Given the description of an element on the screen output the (x, y) to click on. 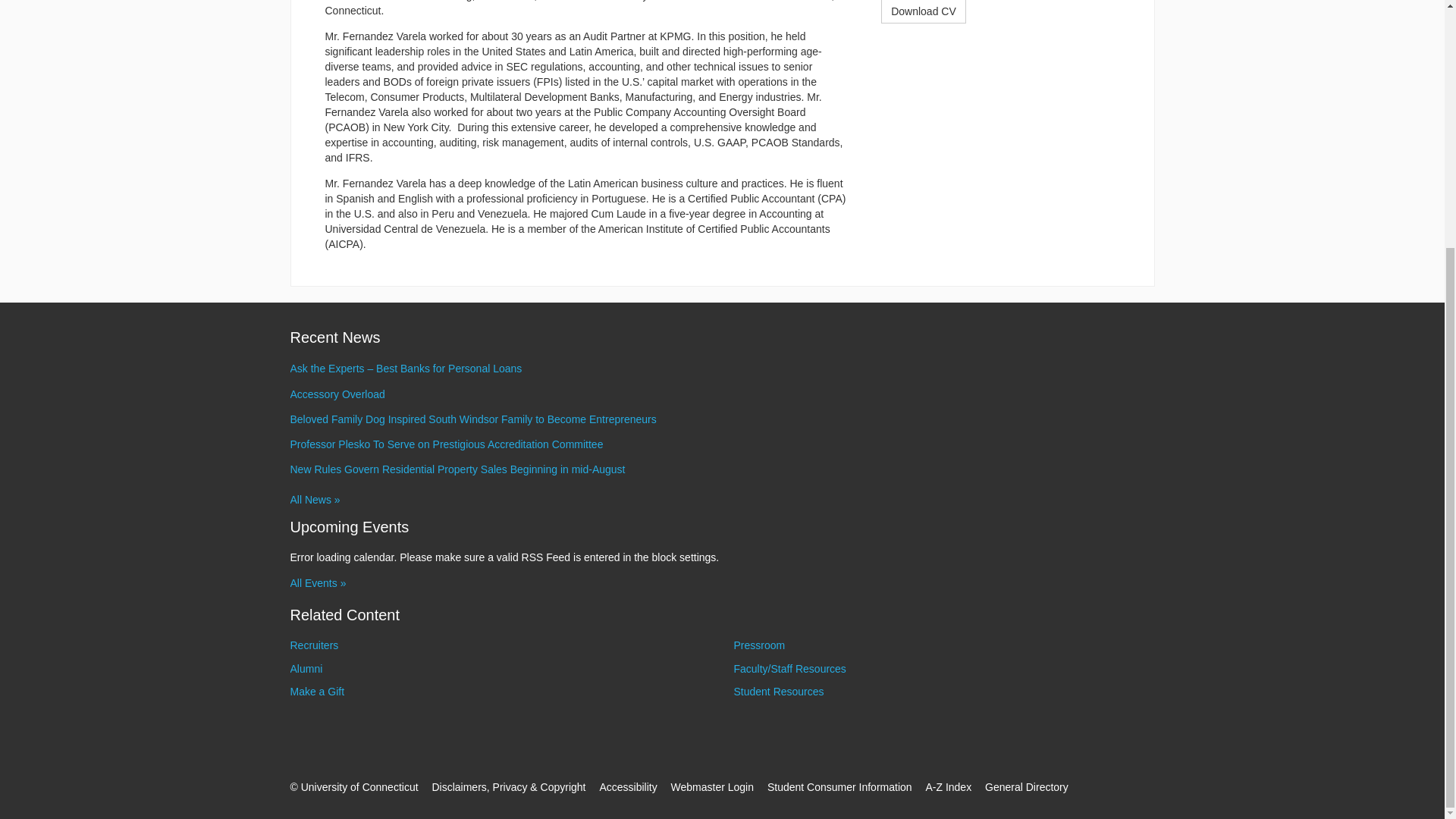
Make a Gift (316, 691)
Faculty Staff Resources (789, 668)
Recruiters (313, 645)
Pressroom (759, 645)
Student Resources (778, 691)
Alumni (305, 668)
